Given the description of an element on the screen output the (x, y) to click on. 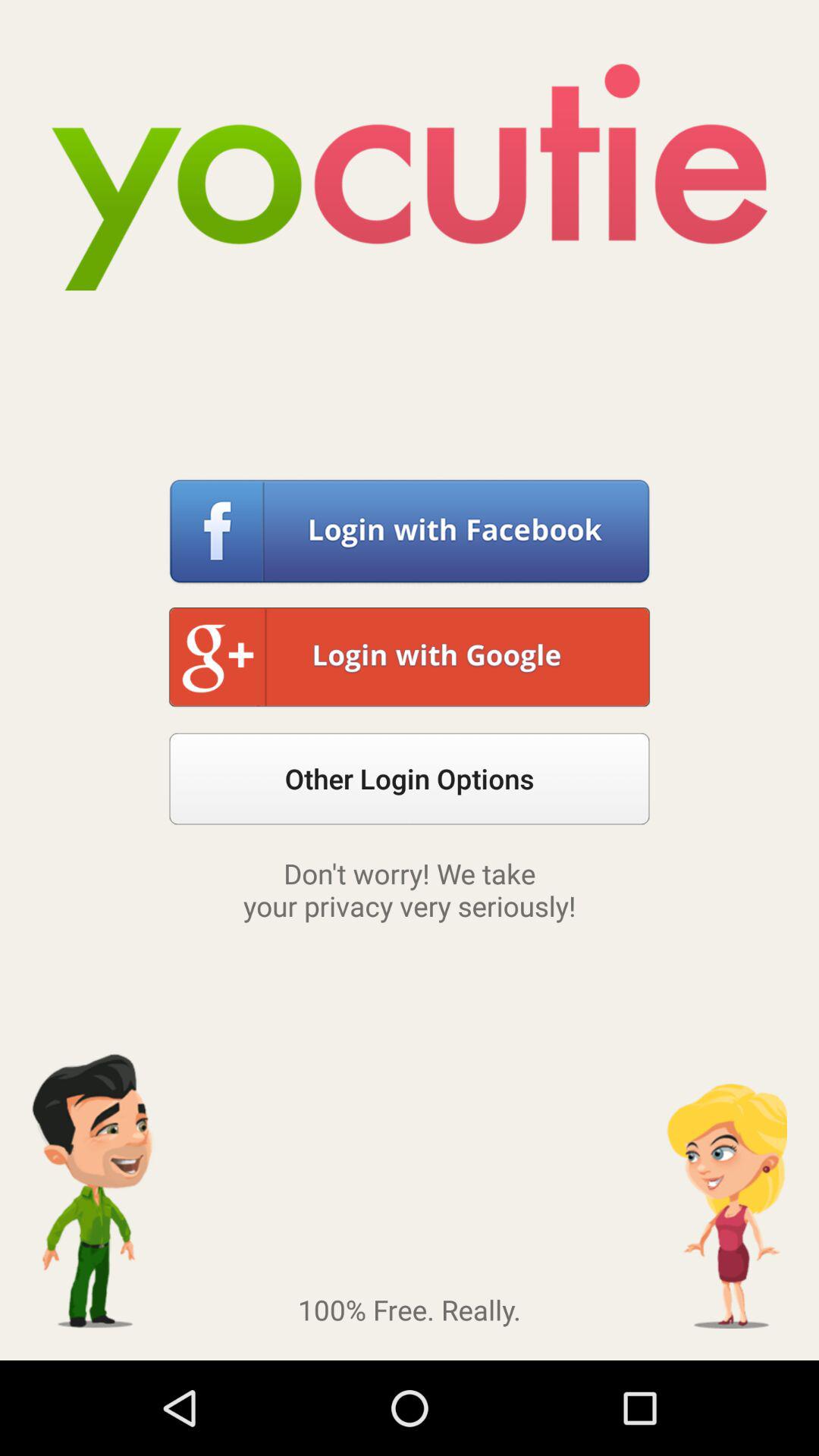
launch other login options item (409, 778)
